Given the description of an element on the screen output the (x, y) to click on. 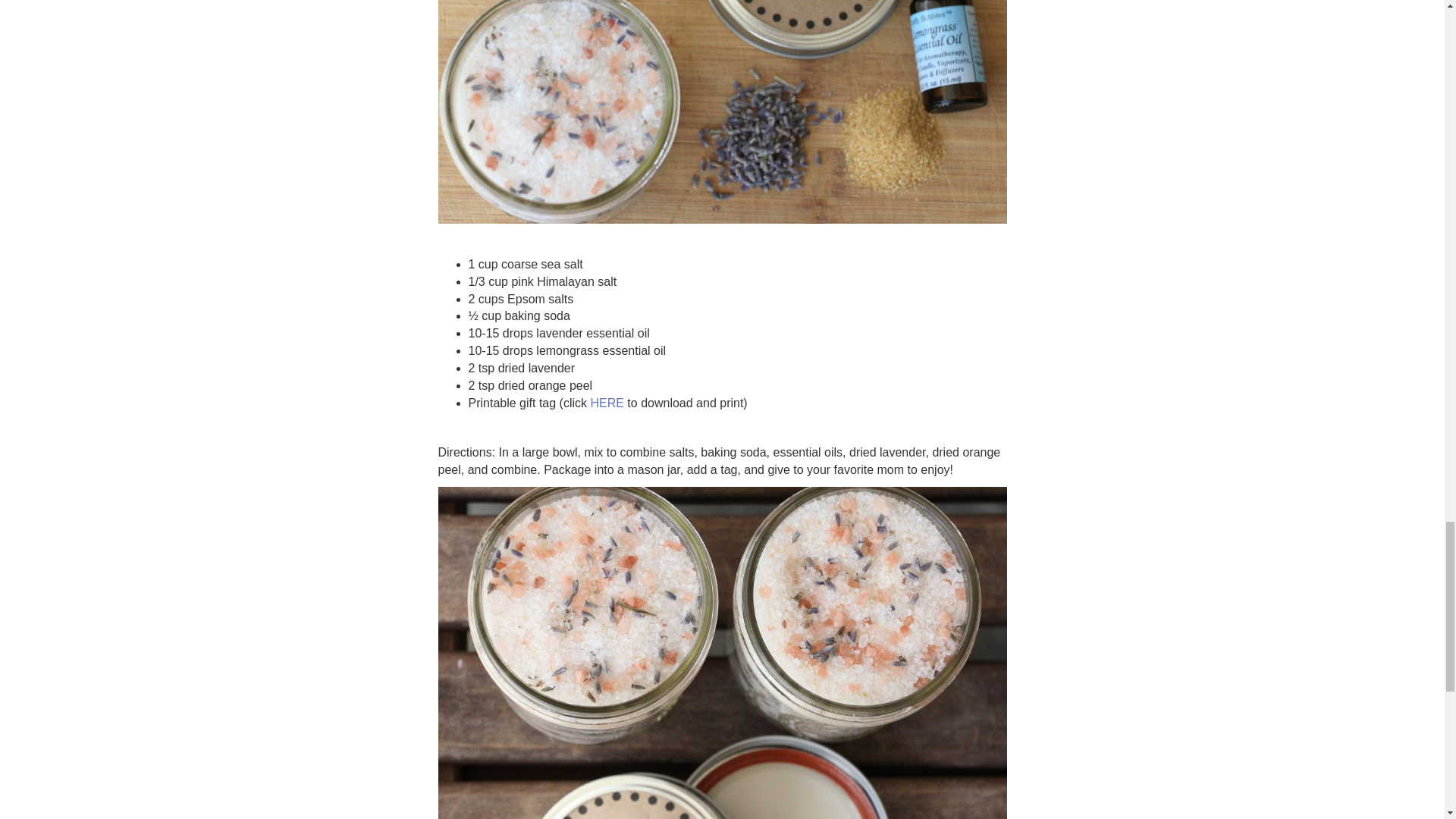
HERE (606, 402)
